Given the description of an element on the screen output the (x, y) to click on. 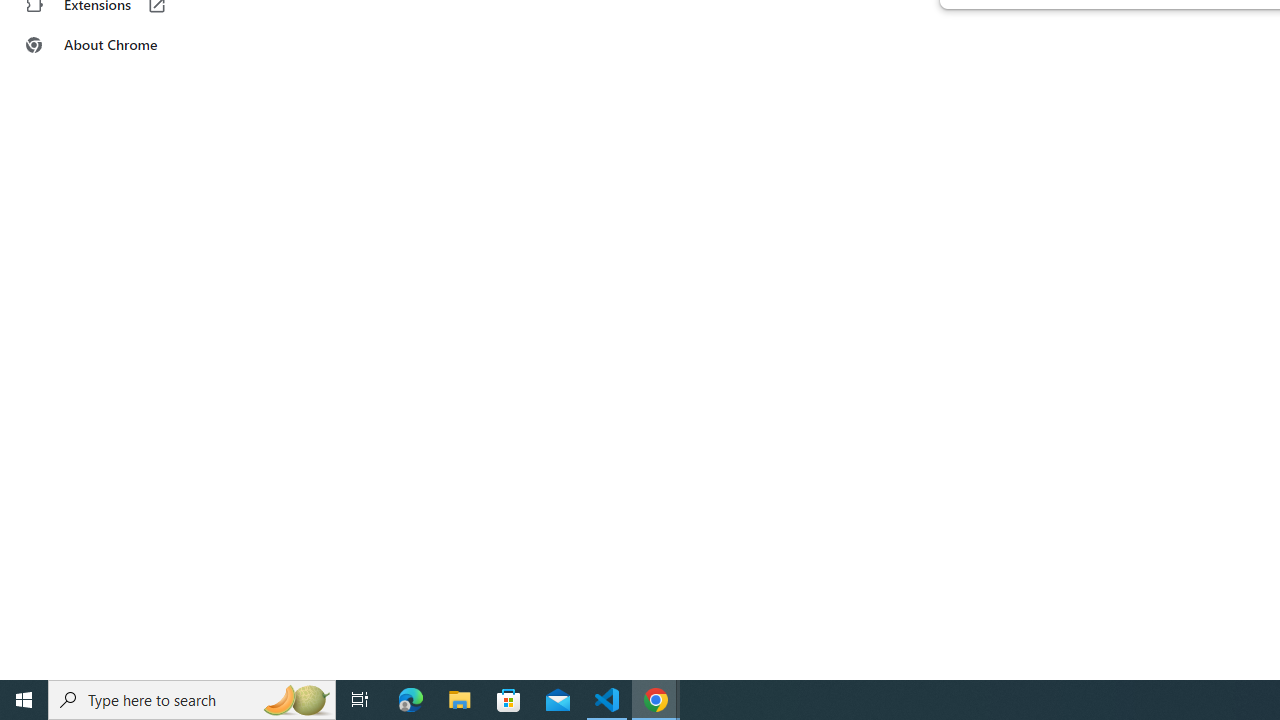
About Chrome (124, 44)
